Given the description of an element on the screen output the (x, y) to click on. 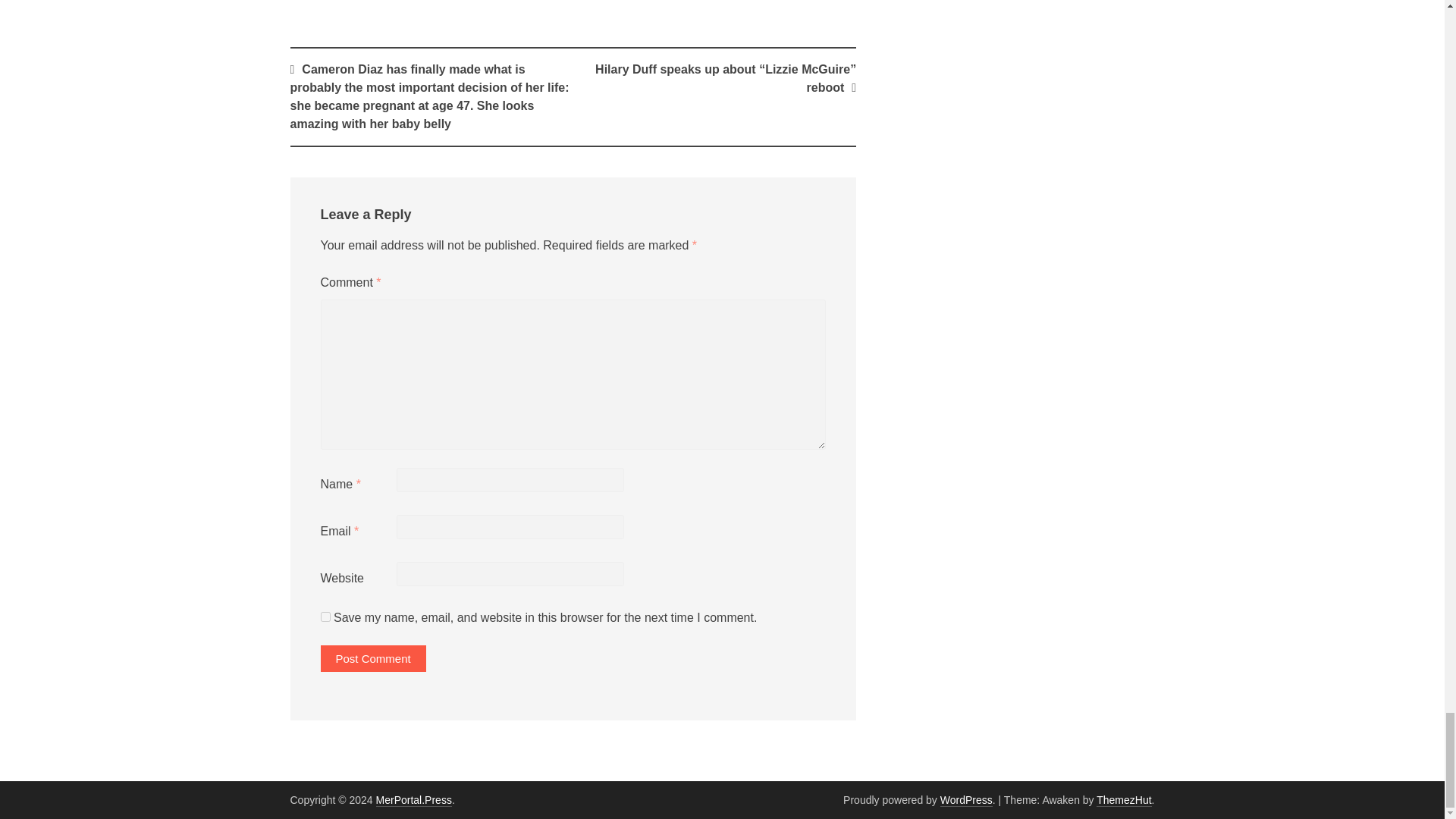
ThemezHut (1123, 799)
WordPress (966, 799)
MerPortal.Press (413, 799)
MerPortal.Press (413, 799)
Post Comment (372, 658)
yes (325, 616)
Post Comment (372, 658)
WordPress (966, 799)
